Given the description of an element on the screen output the (x, y) to click on. 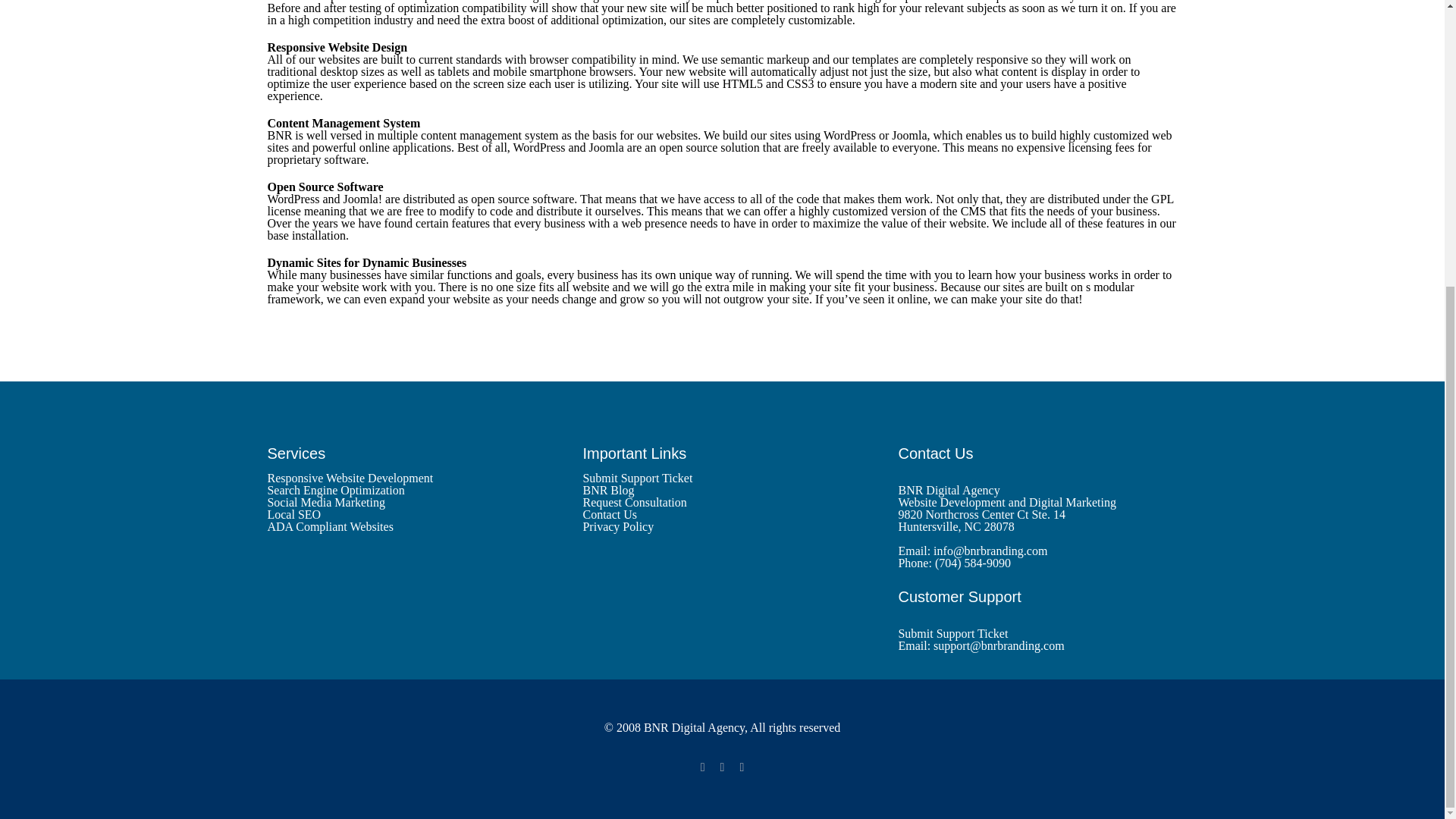
Social Media Marketing (406, 502)
Submit Support Ticket (952, 633)
Privacy Policy (721, 526)
BNR Blog (721, 490)
Submit Support Ticket (721, 478)
Search Engine Optimization (406, 490)
Local SEO (406, 514)
LinkedIn (741, 767)
X (722, 767)
Request Consultation (721, 502)
ADA Compliant Websites (406, 526)
Contact Us (721, 514)
Responsive Website Development (406, 478)
Facebook (702, 767)
